Given the description of an element on the screen output the (x, y) to click on. 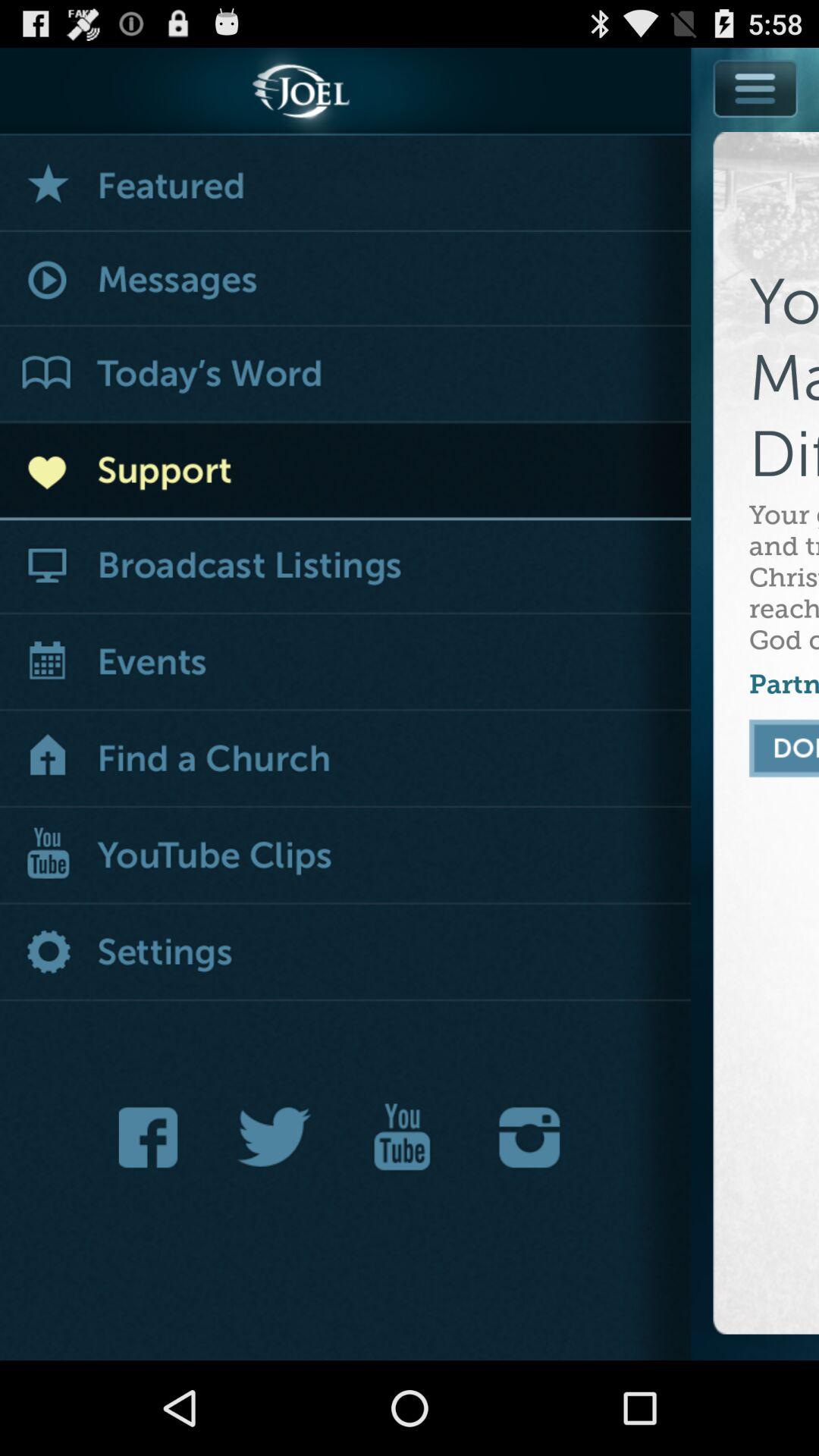
instagram option (529, 1137)
